Given the description of an element on the screen output the (x, y) to click on. 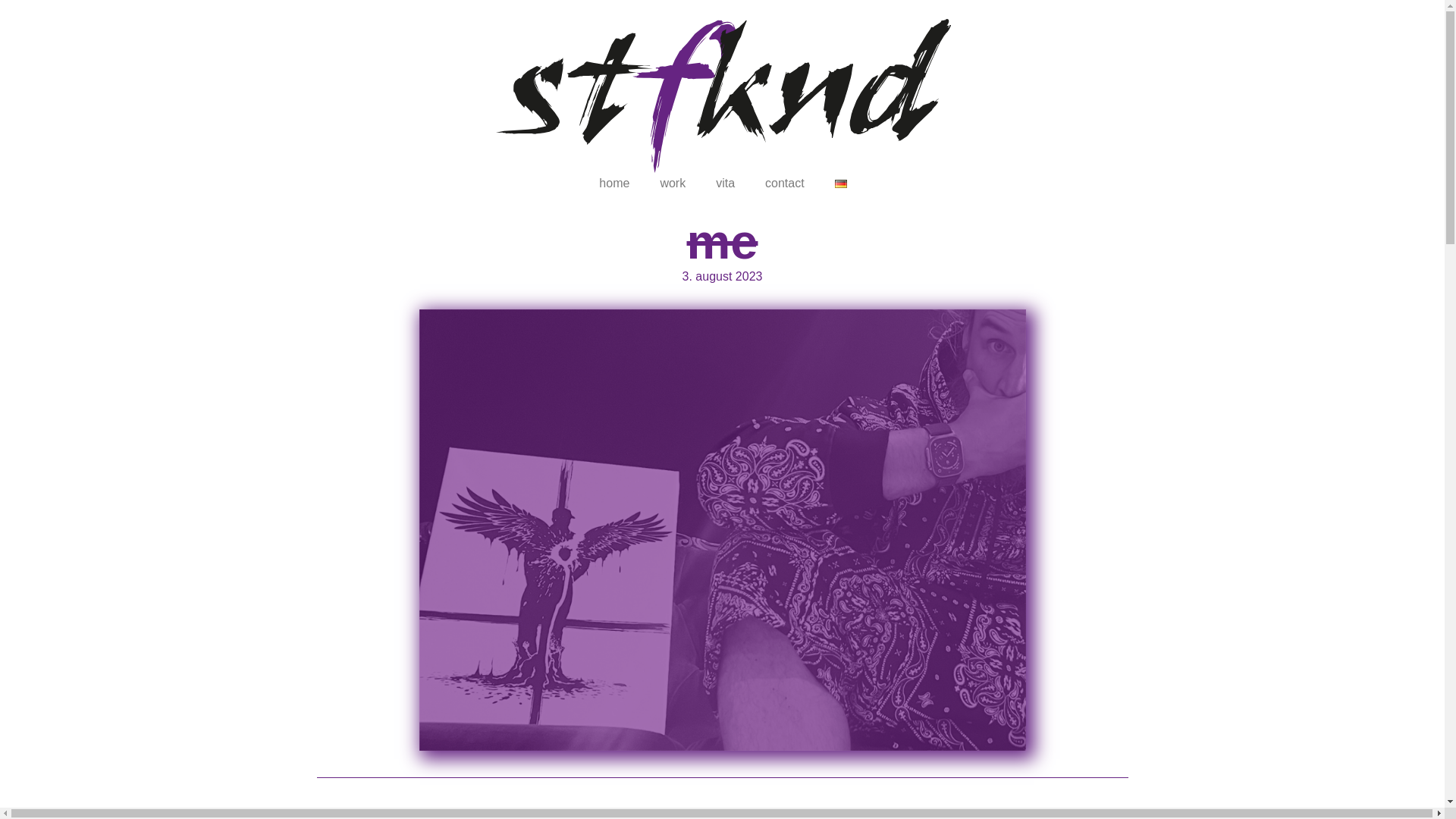
home (614, 183)
3. august 2023 (722, 276)
contact (784, 183)
work (672, 183)
vita (724, 183)
